Given the description of an element on the screen output the (x, y) to click on. 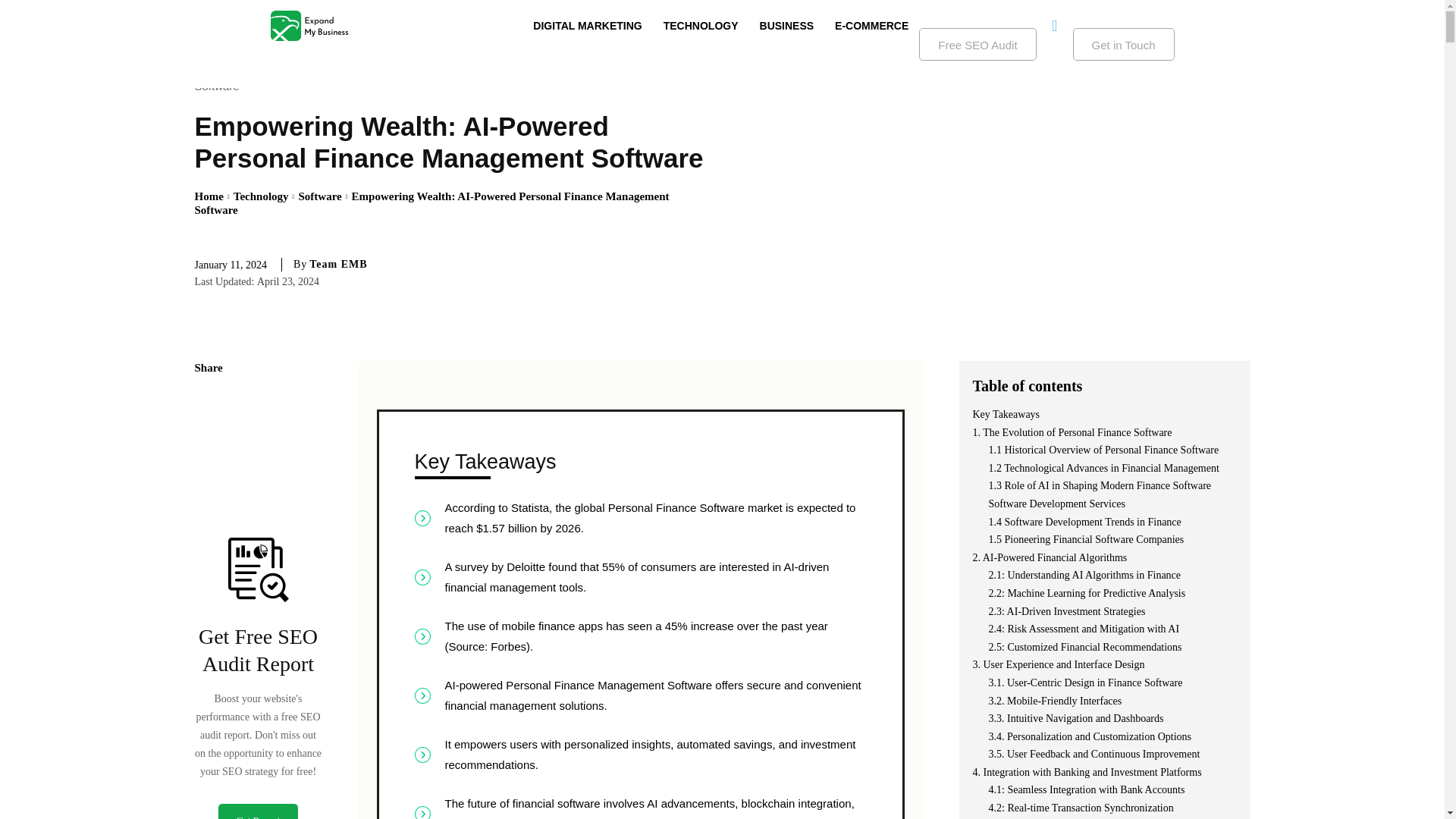
Technology (260, 196)
Get in Touch (1123, 43)
Free SEO Audit (977, 43)
TECHNOLOGY (700, 25)
View all posts in Technology (260, 196)
Team EMB (337, 264)
Get Report (258, 811)
Software (319, 196)
Expand My Business (308, 25)
Get in Touch (1123, 43)
E-COMMERCE (871, 25)
BUSINESS (787, 25)
View all posts in Software (319, 196)
Software (219, 85)
Free SEO Audit (977, 43)
